Given the description of an element on the screen output the (x, y) to click on. 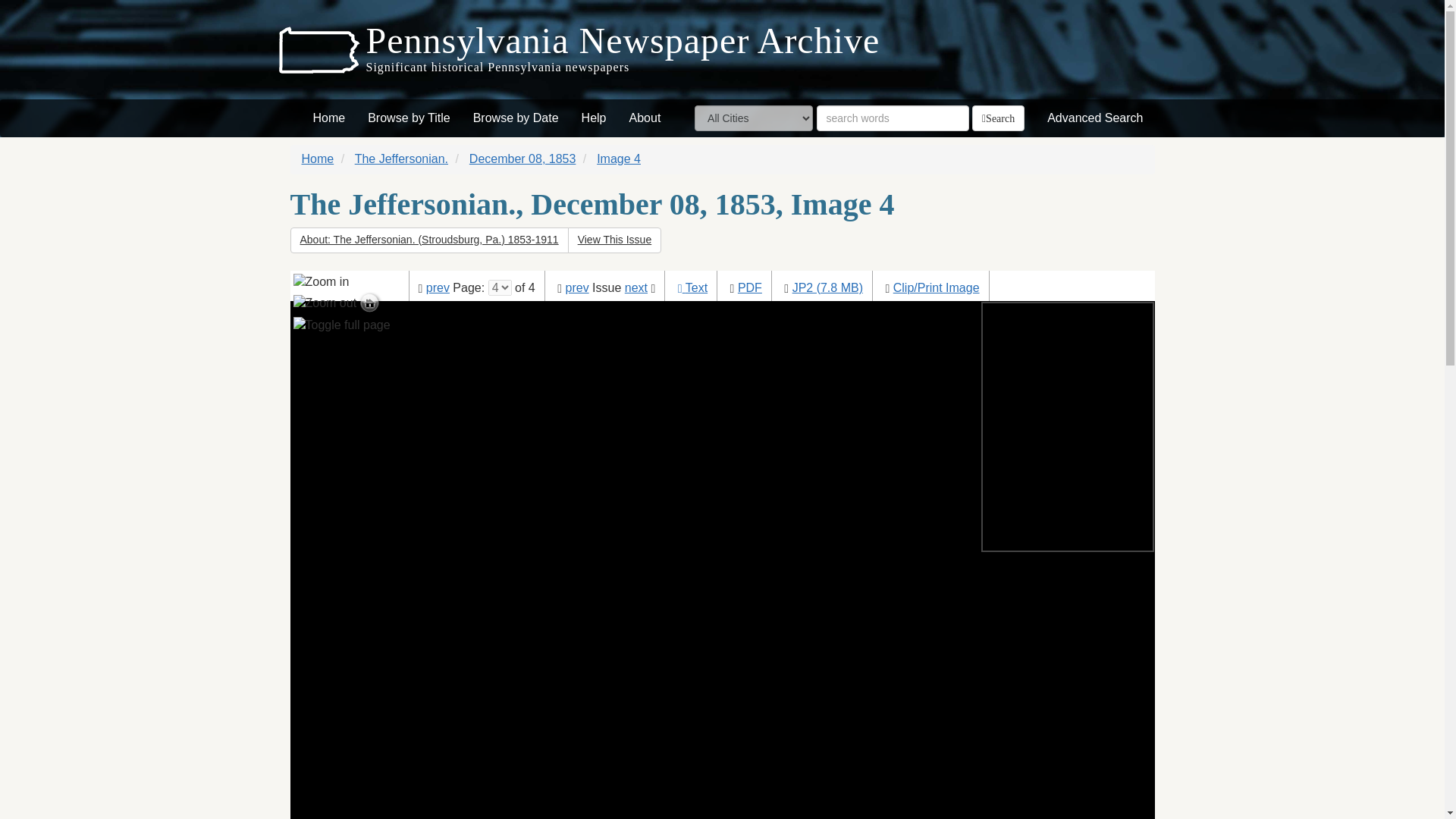
The Jeffersonian. (401, 158)
Zoom out (324, 299)
View This Issue (614, 240)
Go home (323, 316)
Home (328, 118)
Browse by Date (515, 118)
prev (577, 287)
Text (696, 287)
Help (593, 118)
Image 4 (618, 158)
December 08, 1853 (522, 158)
prev (437, 287)
next (635, 287)
Zoom in (320, 282)
Search (998, 118)
